Given the description of an element on the screen output the (x, y) to click on. 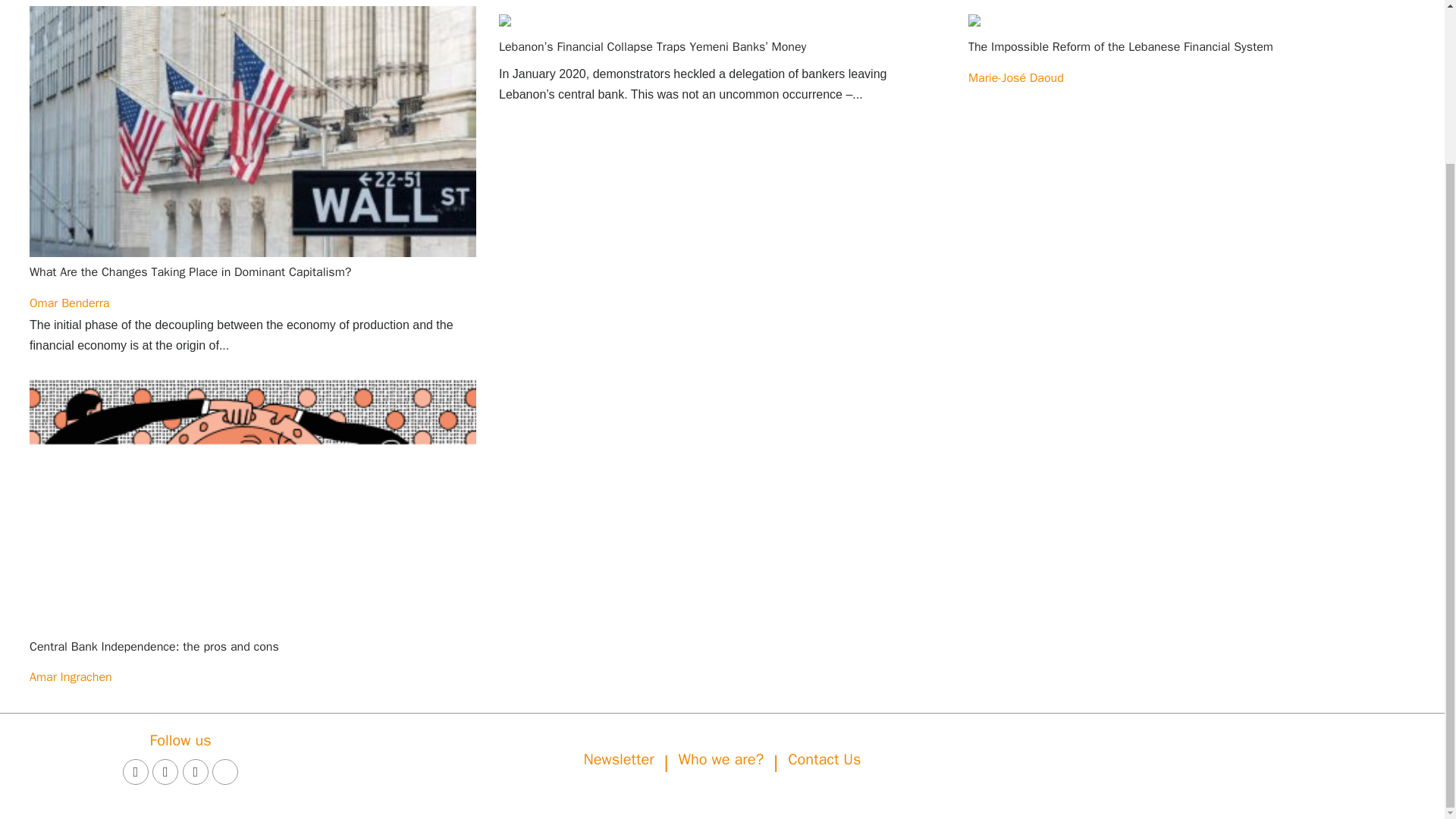
The Impossible Reform of the Lebanese Financial System (1120, 46)
Who we are? (721, 759)
Contact Us (823, 759)
Central Bank Independence: the pros and cons (154, 646)
What Are the Changes Taking Place in Dominant Capitalism? (189, 272)
Amar Ingrachen (70, 676)
Newsletter (618, 759)
Omar Benderra (69, 303)
